Given the description of an element on the screen output the (x, y) to click on. 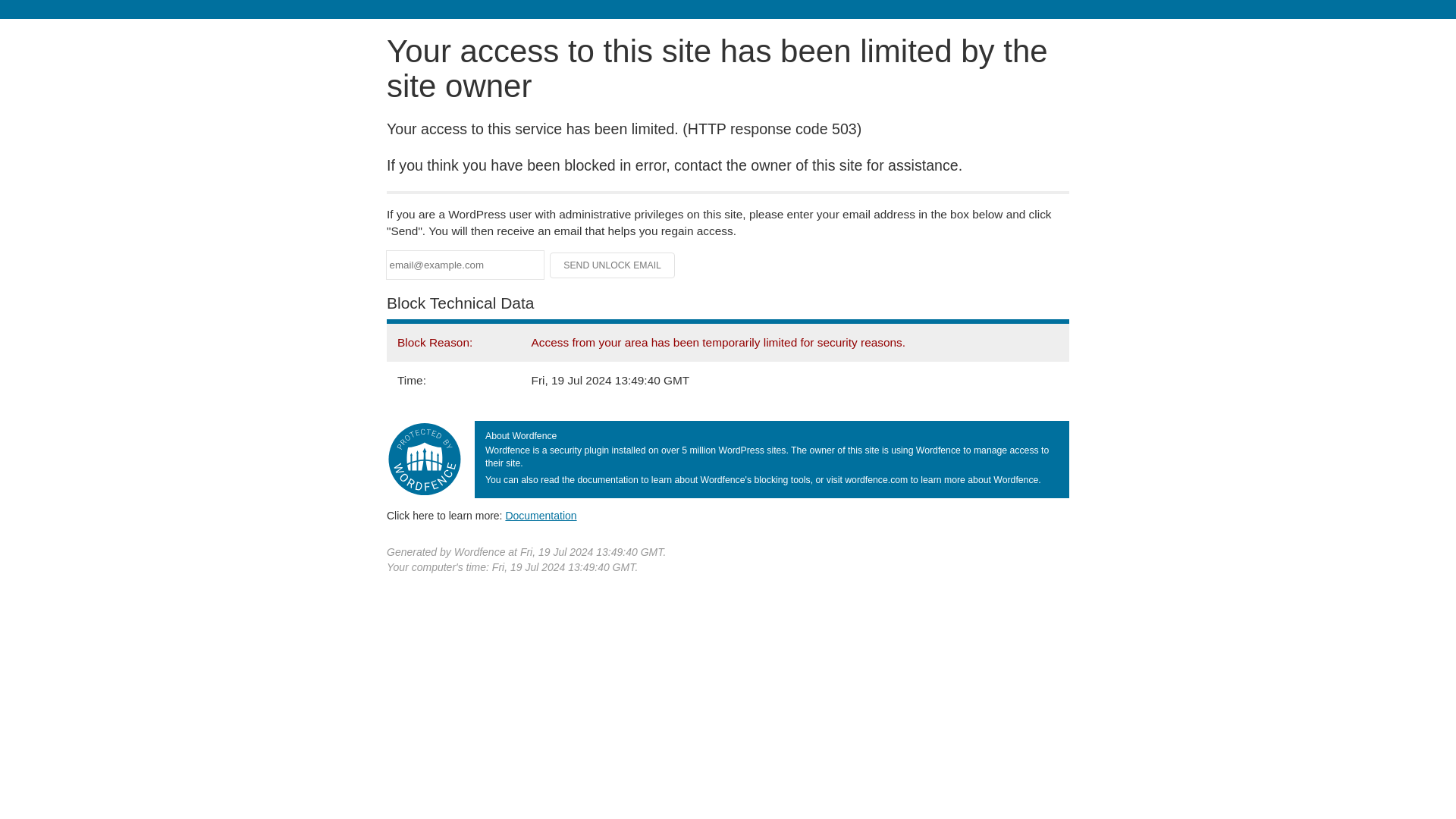
Send Unlock Email (612, 265)
Documentation (540, 515)
Send Unlock Email (612, 265)
